Given the description of an element on the screen output the (x, y) to click on. 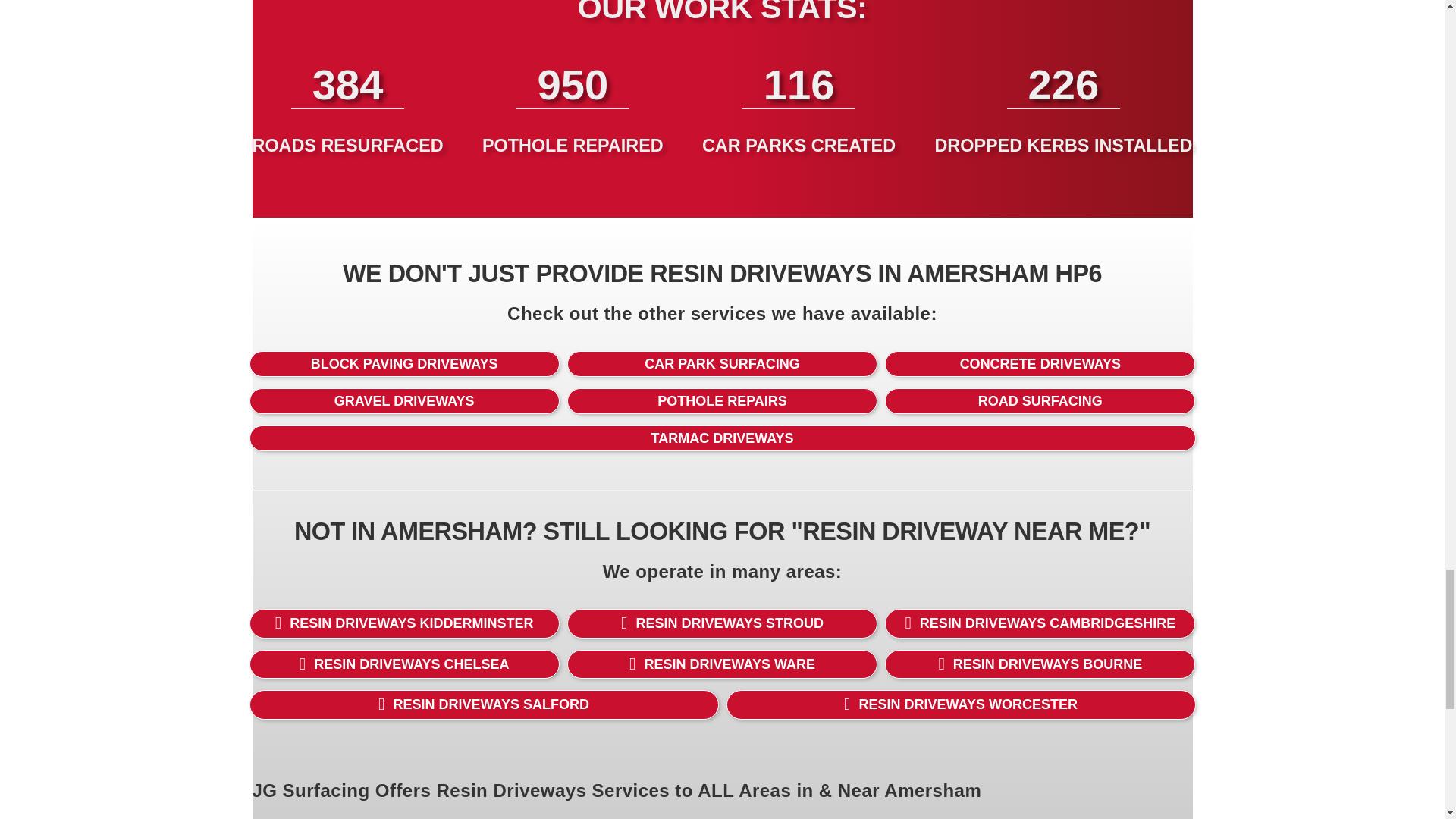
BLOCK PAVING DRIVEWAYS (403, 363)
CAR PARK SURFACING (722, 363)
CONCRETE DRIVEWAYS (1040, 363)
